Given the description of an element on the screen output the (x, y) to click on. 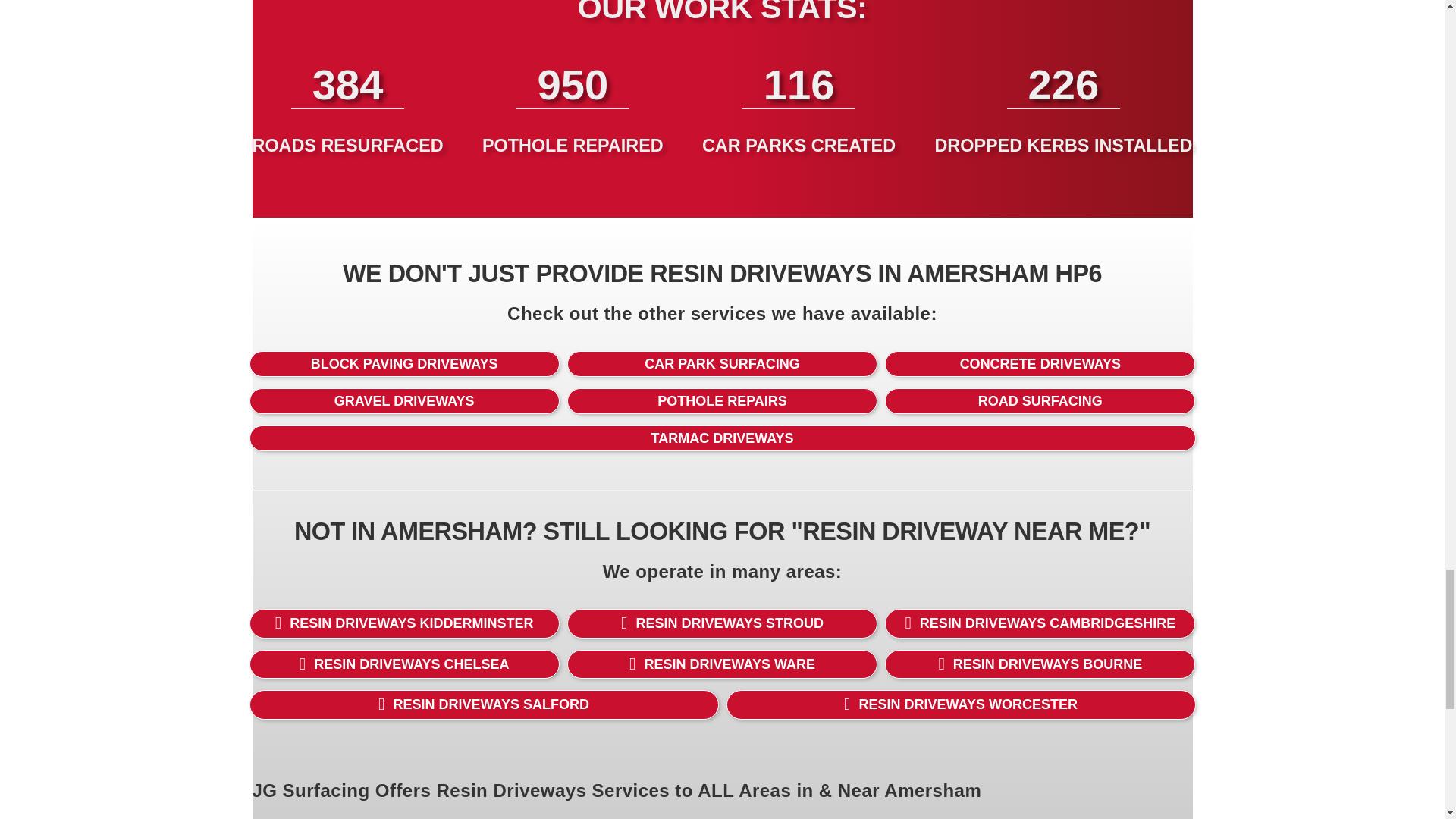
BLOCK PAVING DRIVEWAYS (403, 363)
CAR PARK SURFACING (722, 363)
CONCRETE DRIVEWAYS (1040, 363)
